Given the description of an element on the screen output the (x, y) to click on. 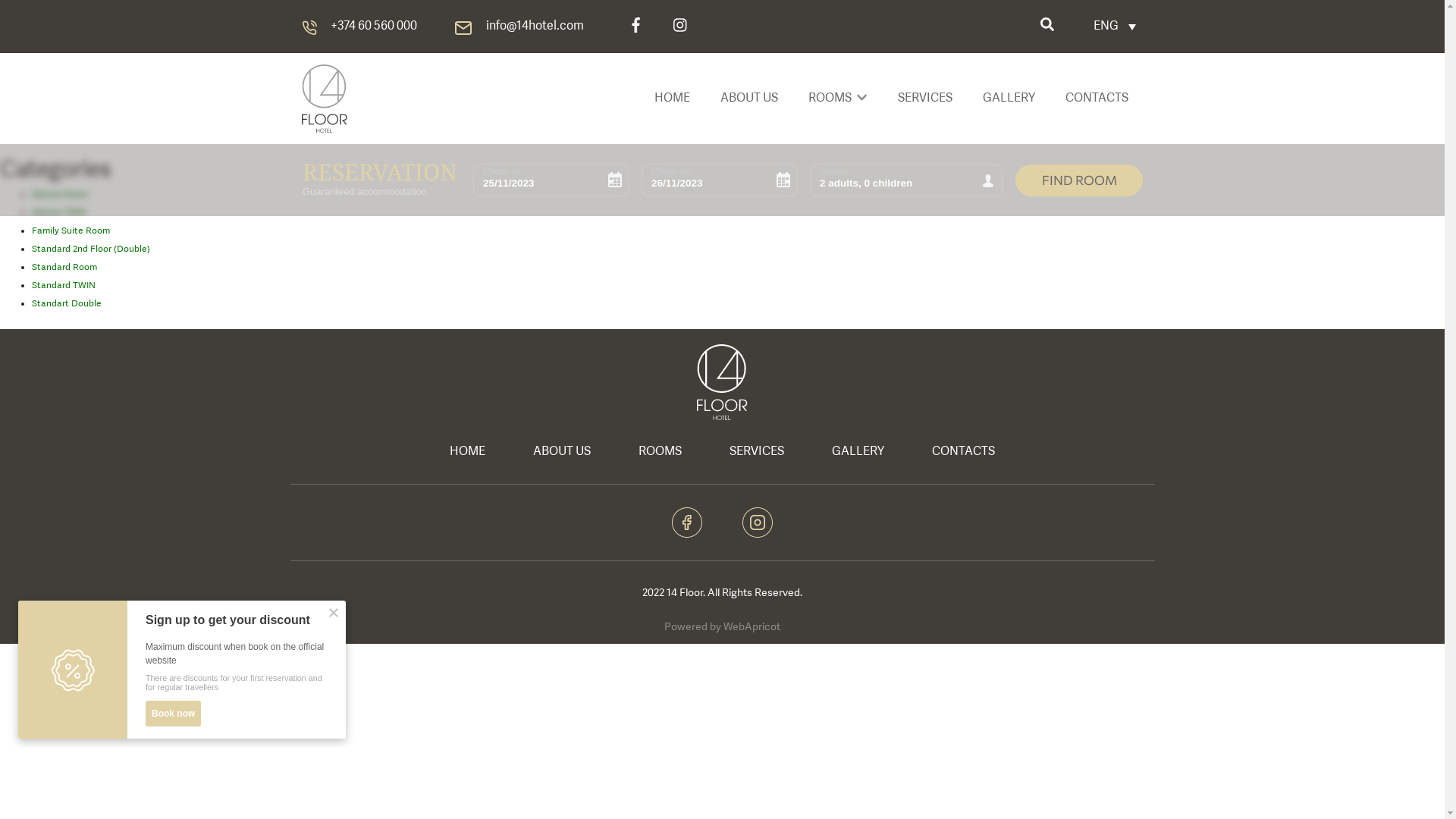
Deluxe Room Element type: text (59, 194)
ABOUT US Element type: text (561, 451)
+374 60 560 000 Element type: text (373, 26)
ROOMS Element type: text (829, 98)
Standard Room Element type: text (64, 267)
CONTACTS Element type: text (963, 451)
Standard TWIN Element type: text (63, 285)
GALLERY Element type: text (1008, 98)
Powered by WebApricot Element type: text (722, 626)
HOME Element type: text (672, 98)
ROOMS Element type: text (659, 451)
Deluxe TWIN Element type: text (58, 212)
SERVICES Element type: text (924, 98)
ENG Element type: text (1113, 26)
CONTACTS Element type: text (1095, 98)
ABOUT US Element type: text (749, 98)
Standard 2nd Floor (Double) Element type: text (90, 249)
Standart Double Element type: text (66, 303)
GALLERY Element type: text (857, 451)
SERVICES Element type: text (756, 451)
HOME Element type: text (467, 451)
Family Suite Room Element type: text (70, 230)
info@14hotel.com Element type: text (534, 26)
